Given the description of an element on the screen output the (x, y) to click on. 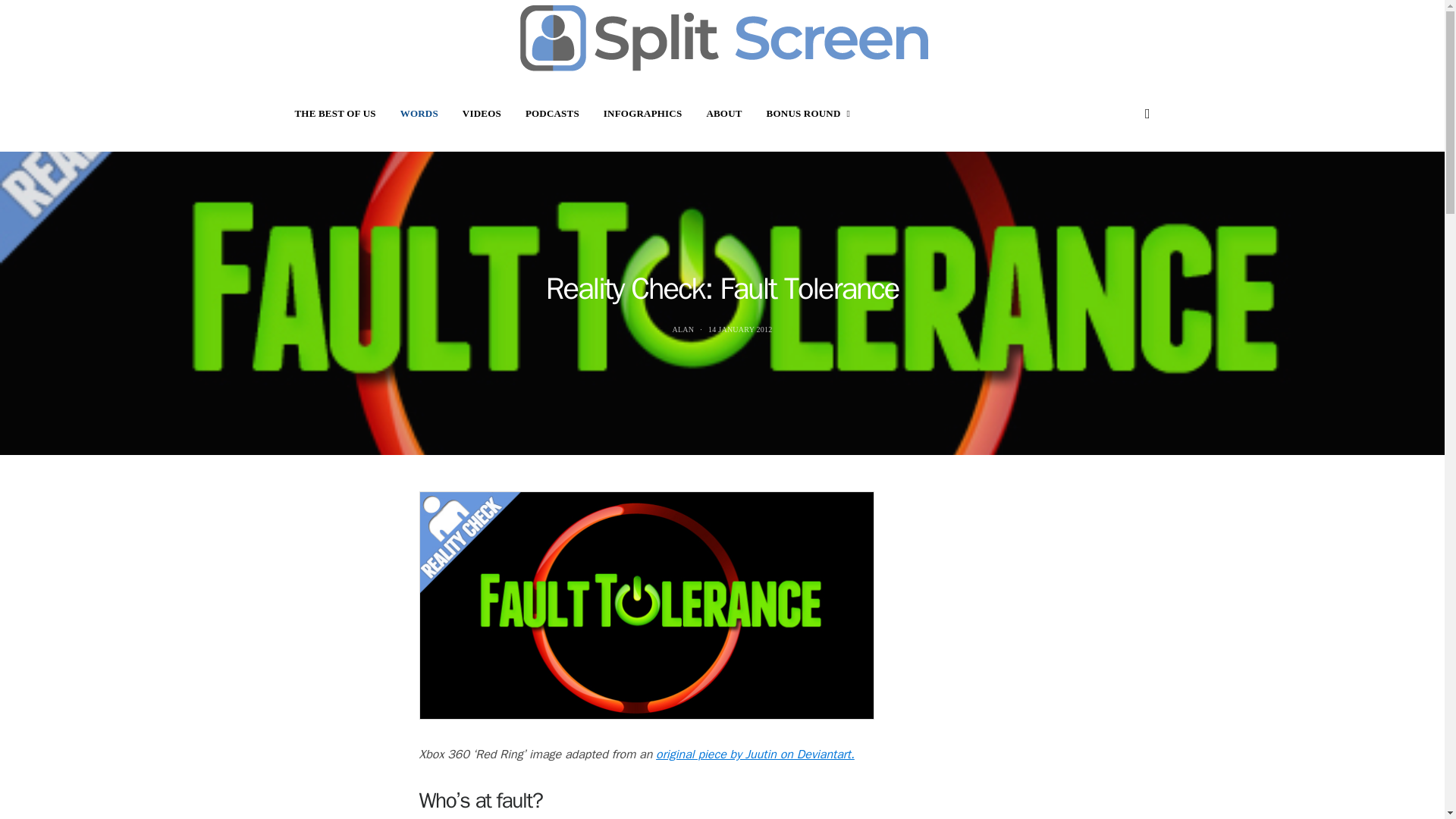
View all posts by Alan (682, 328)
